Given the description of an element on the screen output the (x, y) to click on. 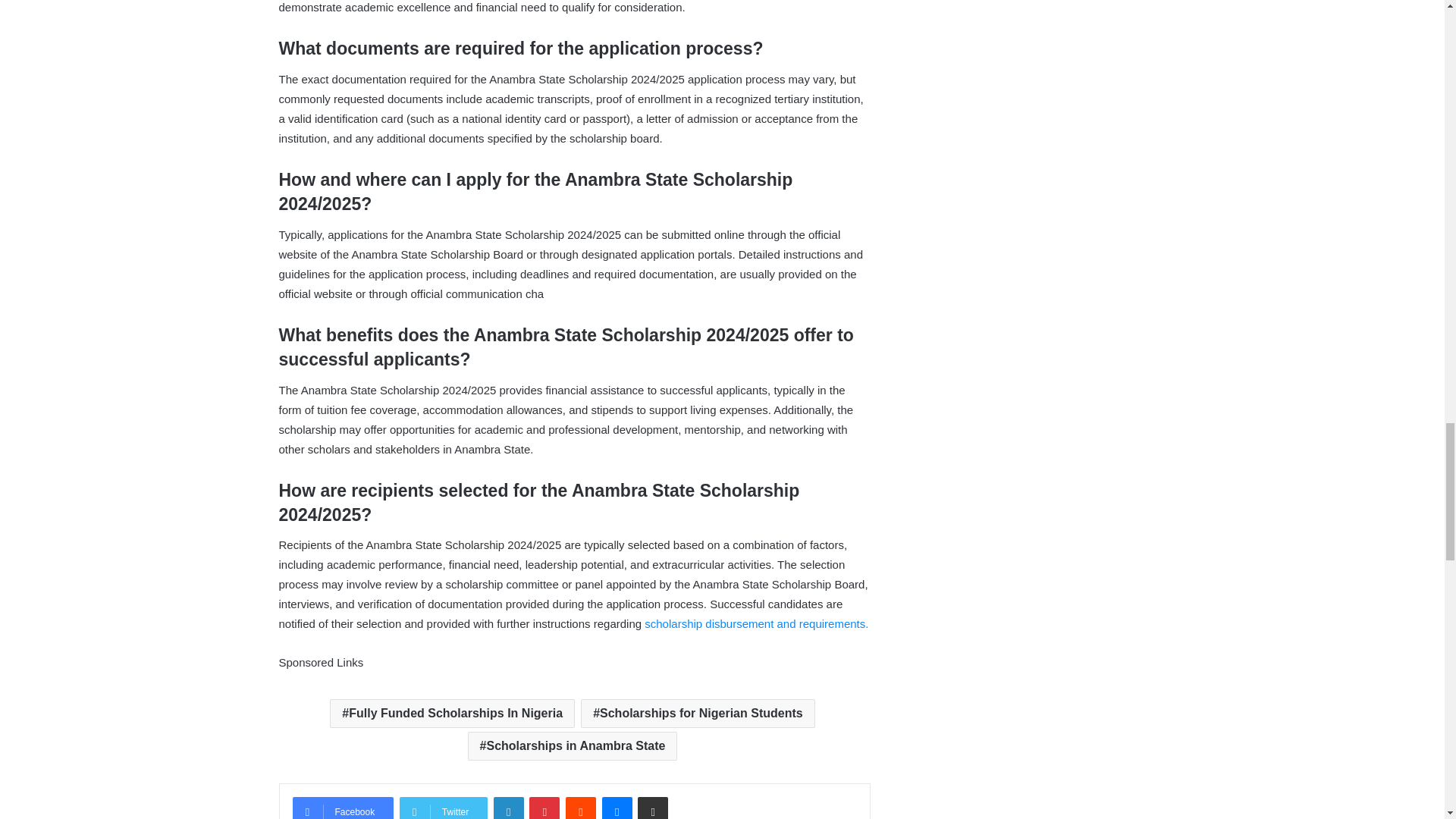
scholarship disbursement and requirements. (756, 623)
Scholarships for Nigerian Students (697, 713)
Fully Funded Scholarships In Nigeria (452, 713)
Scholarships in Anambra State (572, 746)
